Given the description of an element on the screen output the (x, y) to click on. 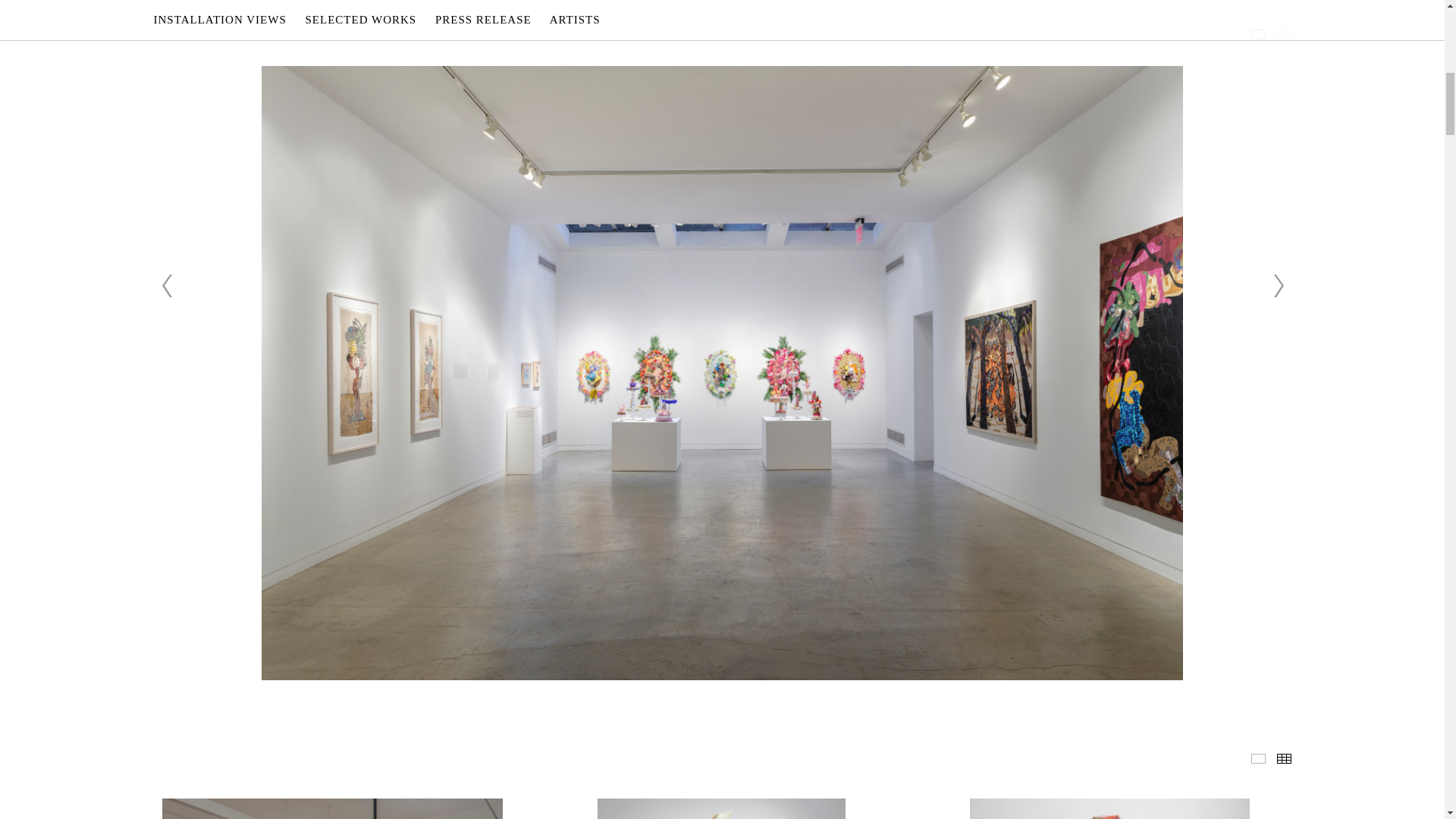
THUMBNAILS (1283, 34)
THUMBNAILS (1283, 758)
INSTALLATION VIEWS (1257, 34)
SELECTED WORKS (1257, 758)
